Given the description of an element on the screen output the (x, y) to click on. 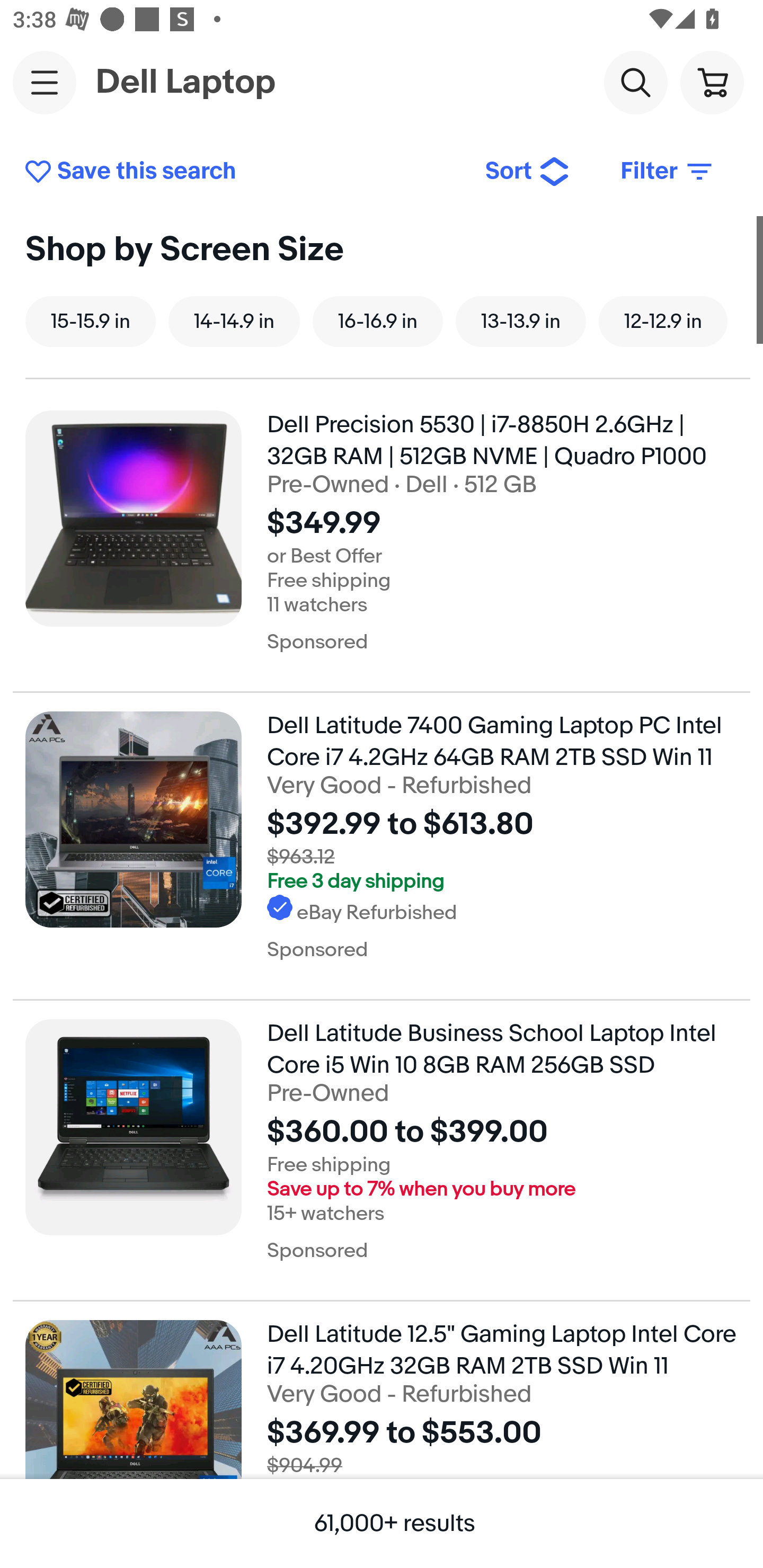
Main navigation, open (44, 82)
Search (635, 81)
Cart button shopping cart (711, 81)
Save this search (241, 171)
Sort (527, 171)
Filter (667, 171)
15-15.9 in 15-15.9 in, Screen Size (90, 321)
14-14.9 in 14-14.9 in, Screen Size (233, 321)
16-16.9 in 16-16.9 in, Screen Size (377, 321)
13-13.9 in 13-13.9 in, Screen Size (520, 321)
12-12.9 in 12-12.9 in, Screen Size (662, 321)
